Given the description of an element on the screen output the (x, y) to click on. 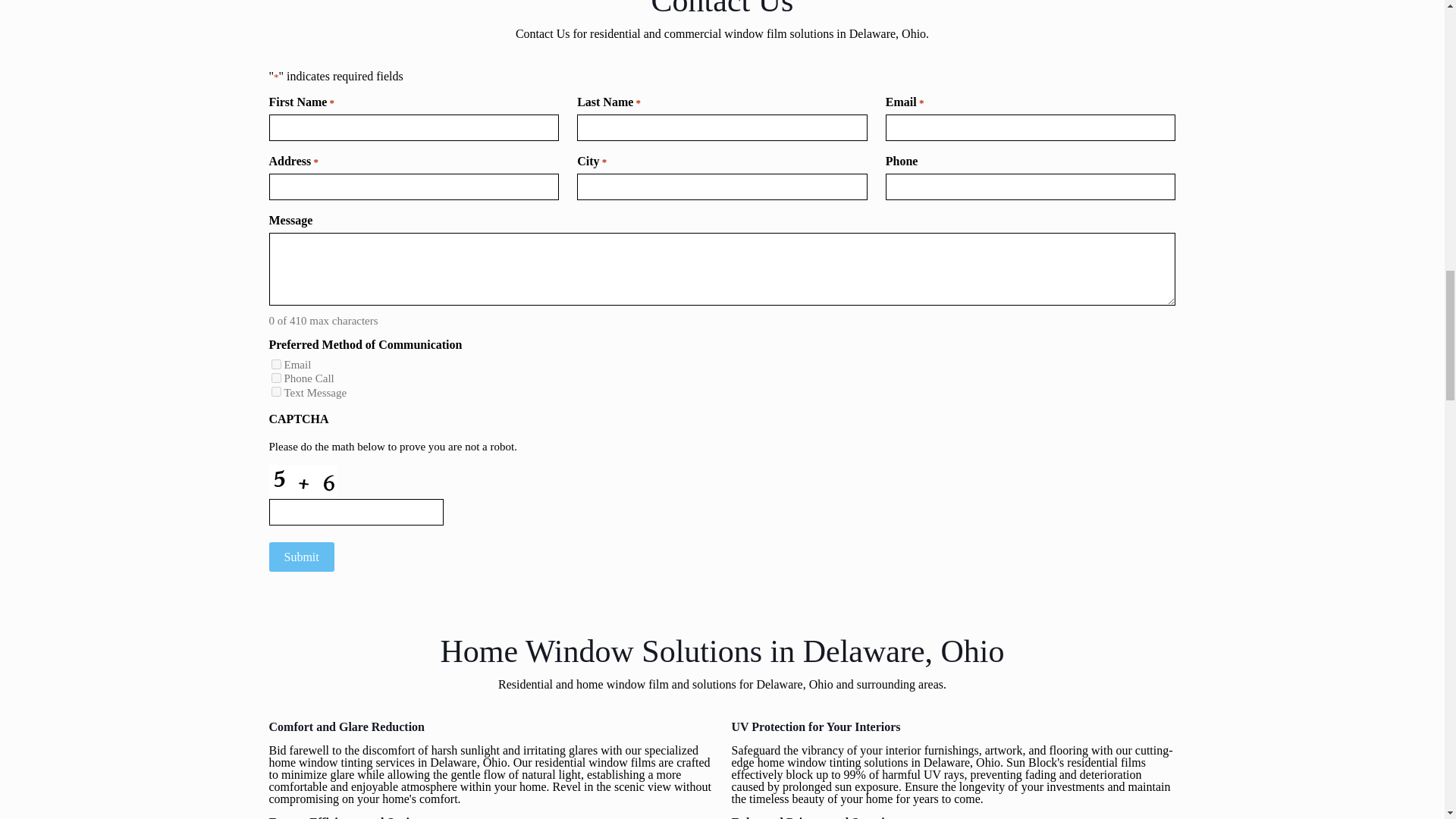
Email (275, 364)
Phone Call (275, 378)
Text Message (275, 391)
Submit (300, 556)
Submit (300, 556)
